Given the description of an element on the screen output the (x, y) to click on. 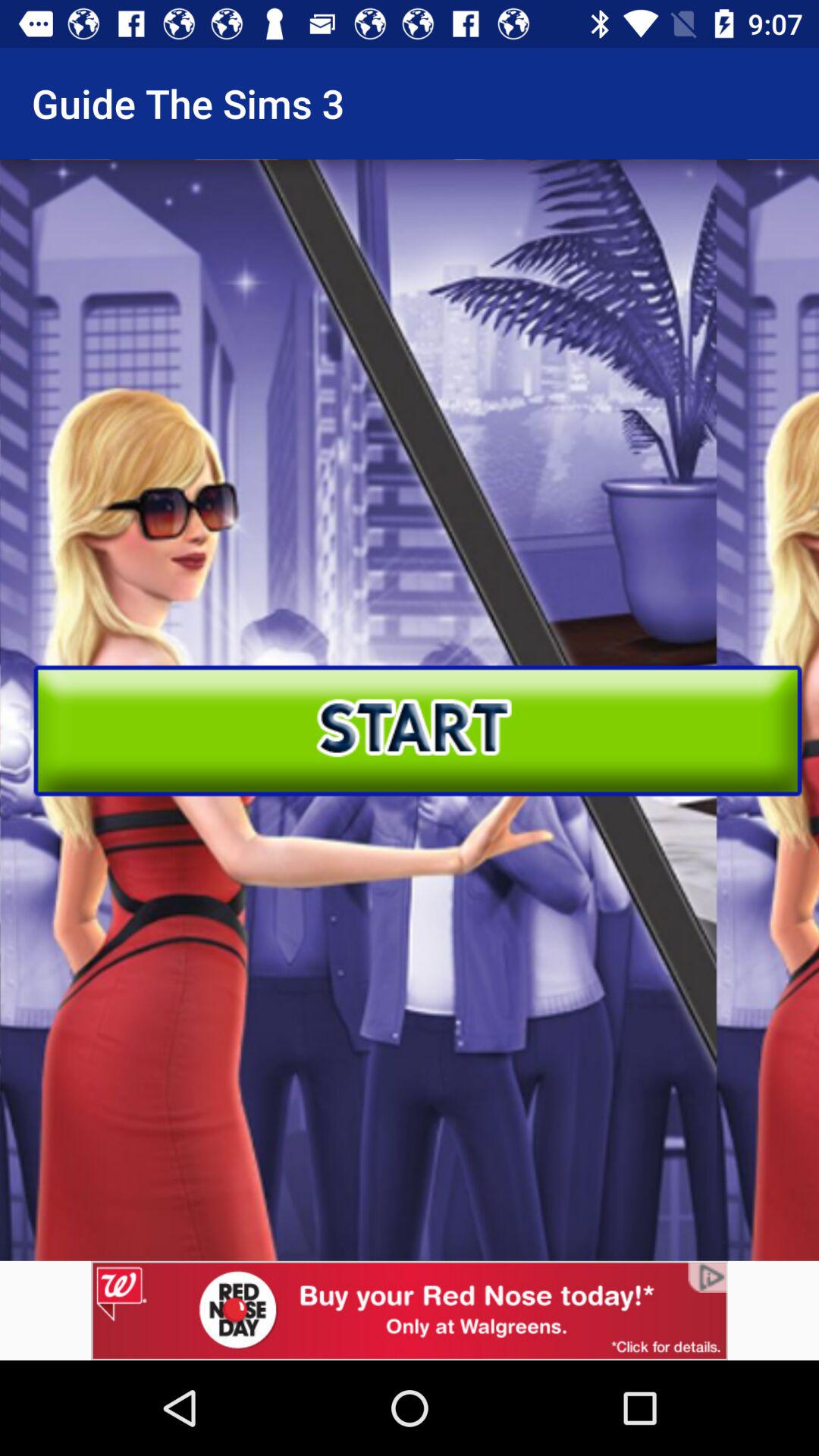
advertisement page (409, 1310)
